Given the description of an element on the screen output the (x, y) to click on. 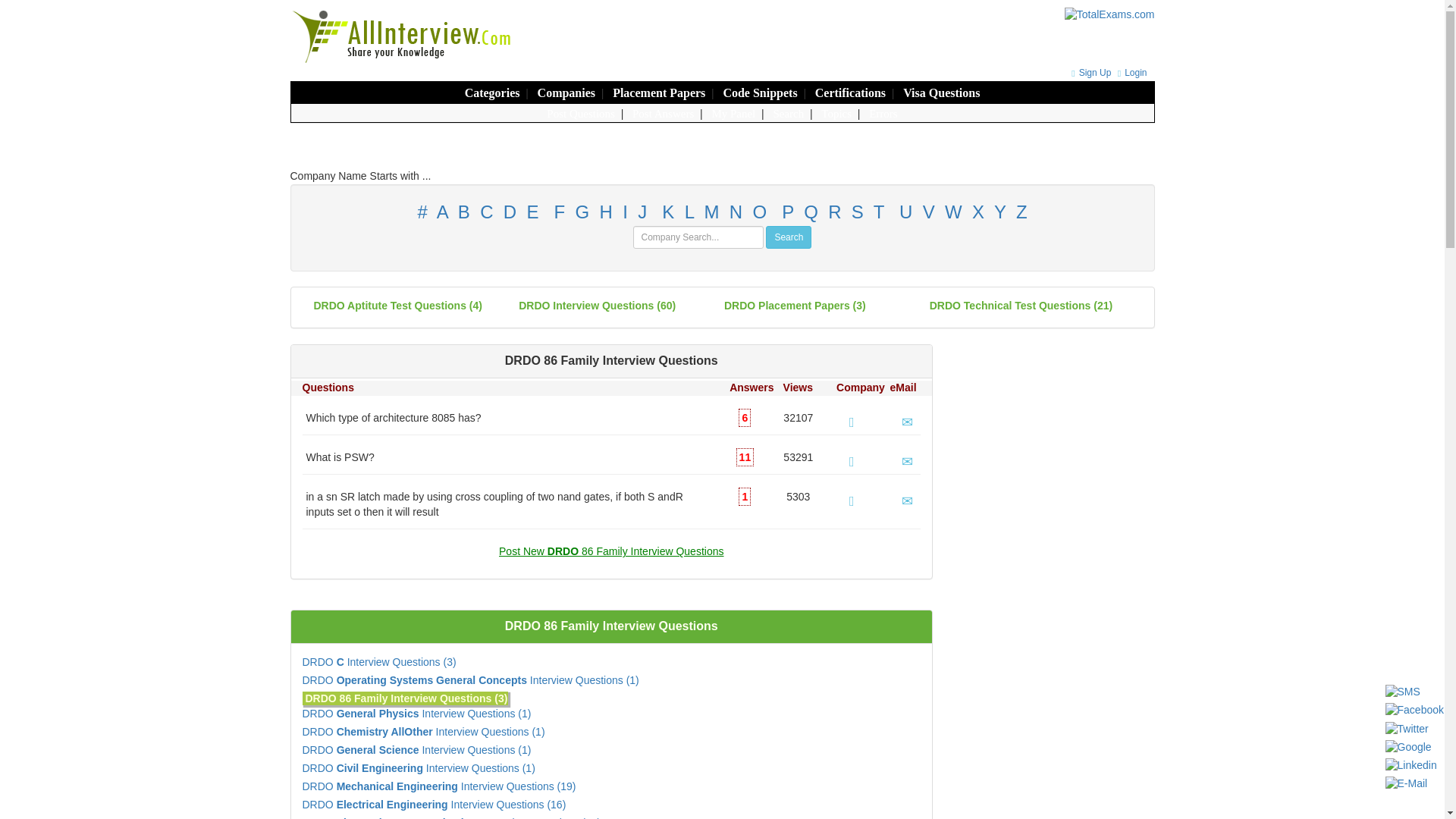
Click to View Answers (745, 456)
Placement Papers (658, 92)
E-Mail New Answers (906, 461)
Code Snippets (759, 92)
Topics (836, 113)
Which company interview, this question was asked ? (852, 461)
Topics -- Provides Information in Depth (836, 113)
Visa Interview Questions (940, 92)
Login into your Panel, to view your performance (733, 113)
E-Mail New Answers (906, 422)
